Given the description of an element on the screen output the (x, y) to click on. 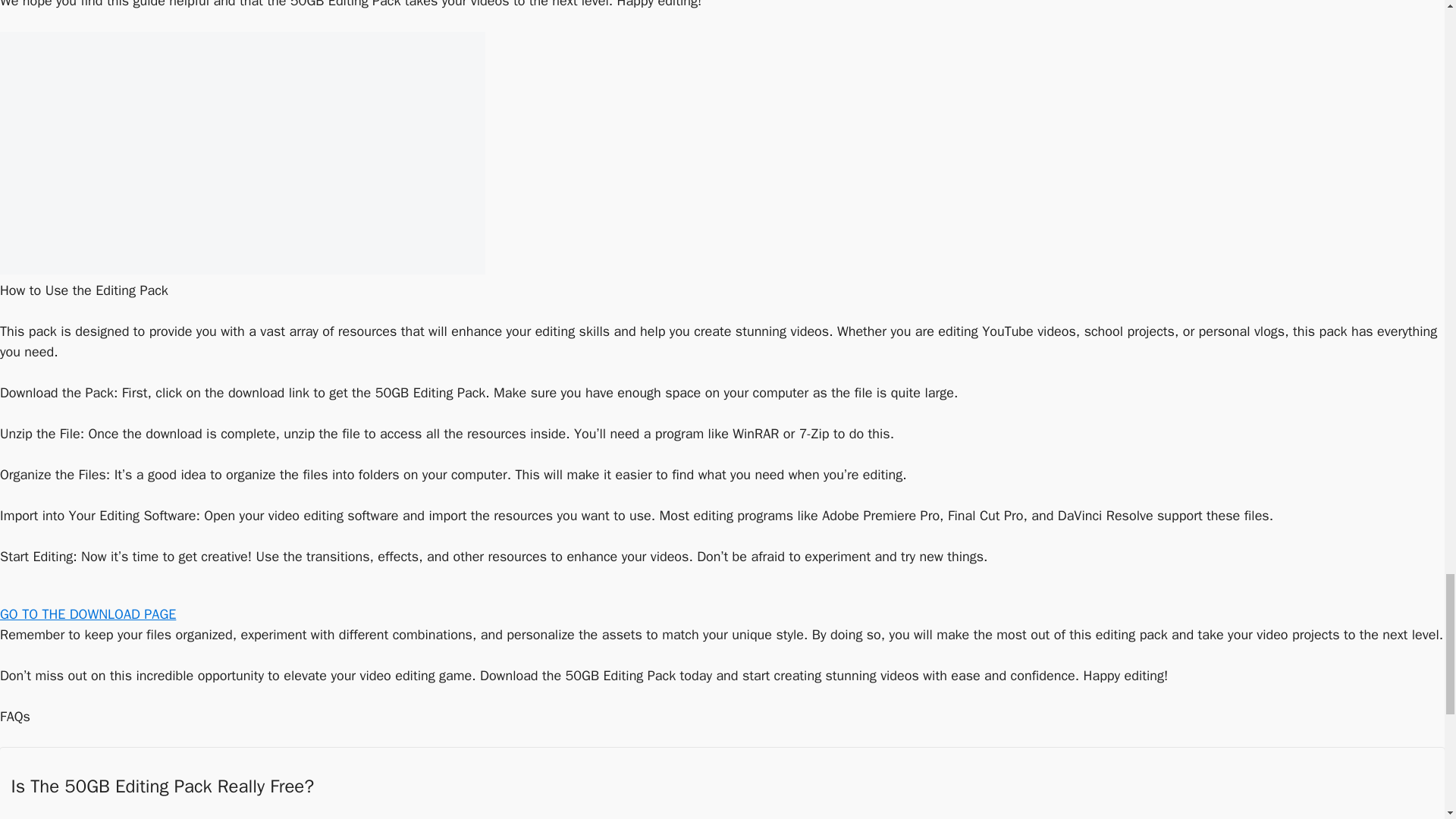
50GB Editing Pack free Download (242, 152)
GO TO THE DOWNLOAD PAGE (88, 614)
